Given the description of an element on the screen output the (x, y) to click on. 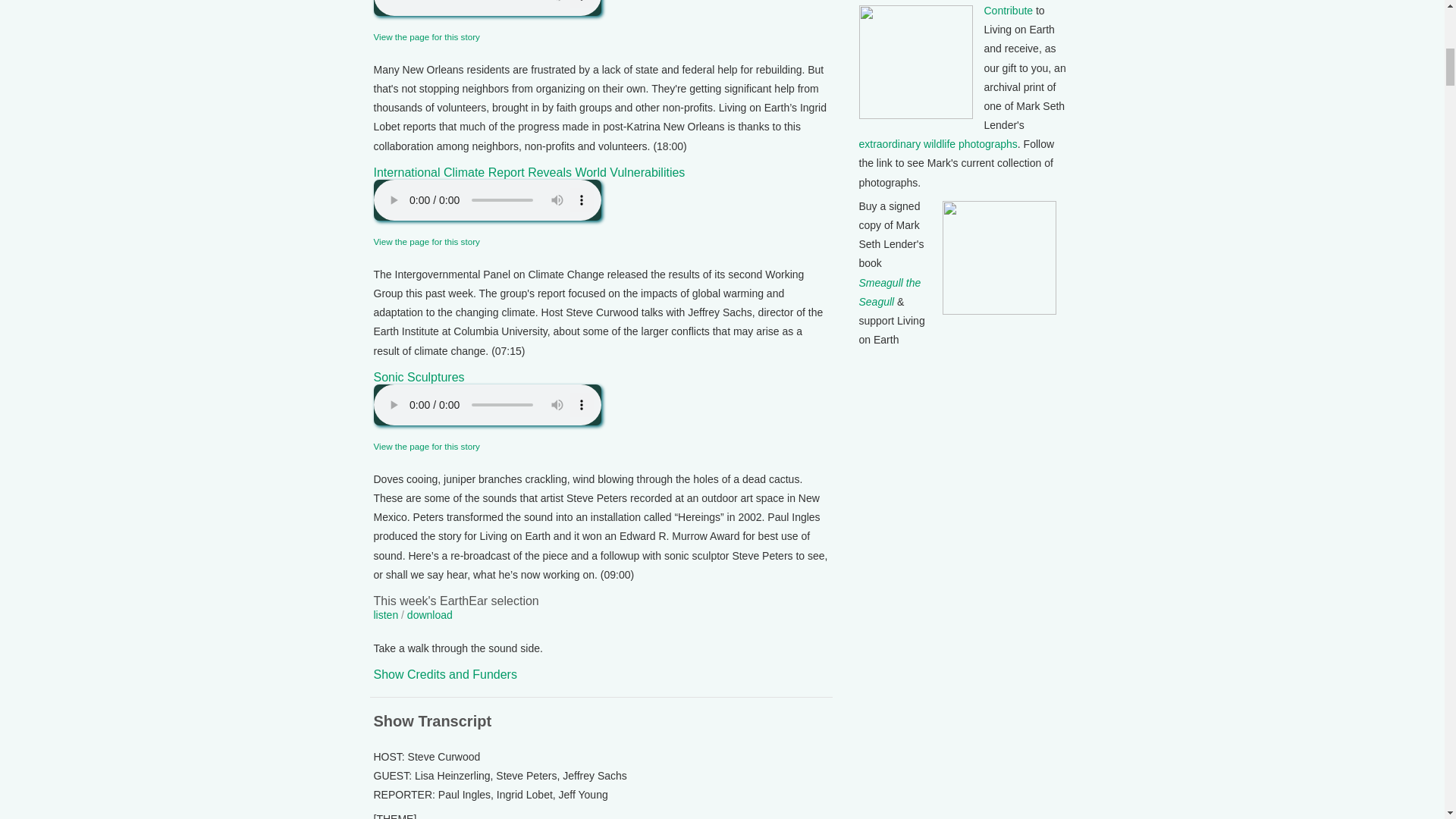
International Climate Report Reveals World Vulnerabilities (528, 172)
listen (384, 614)
Sonic Sculptures (418, 377)
Show Credits and Funders (444, 674)
View the page for this story (425, 36)
View the page for this story (425, 241)
View the page for this story (425, 446)
download (429, 614)
